Given the description of an element on the screen output the (x, y) to click on. 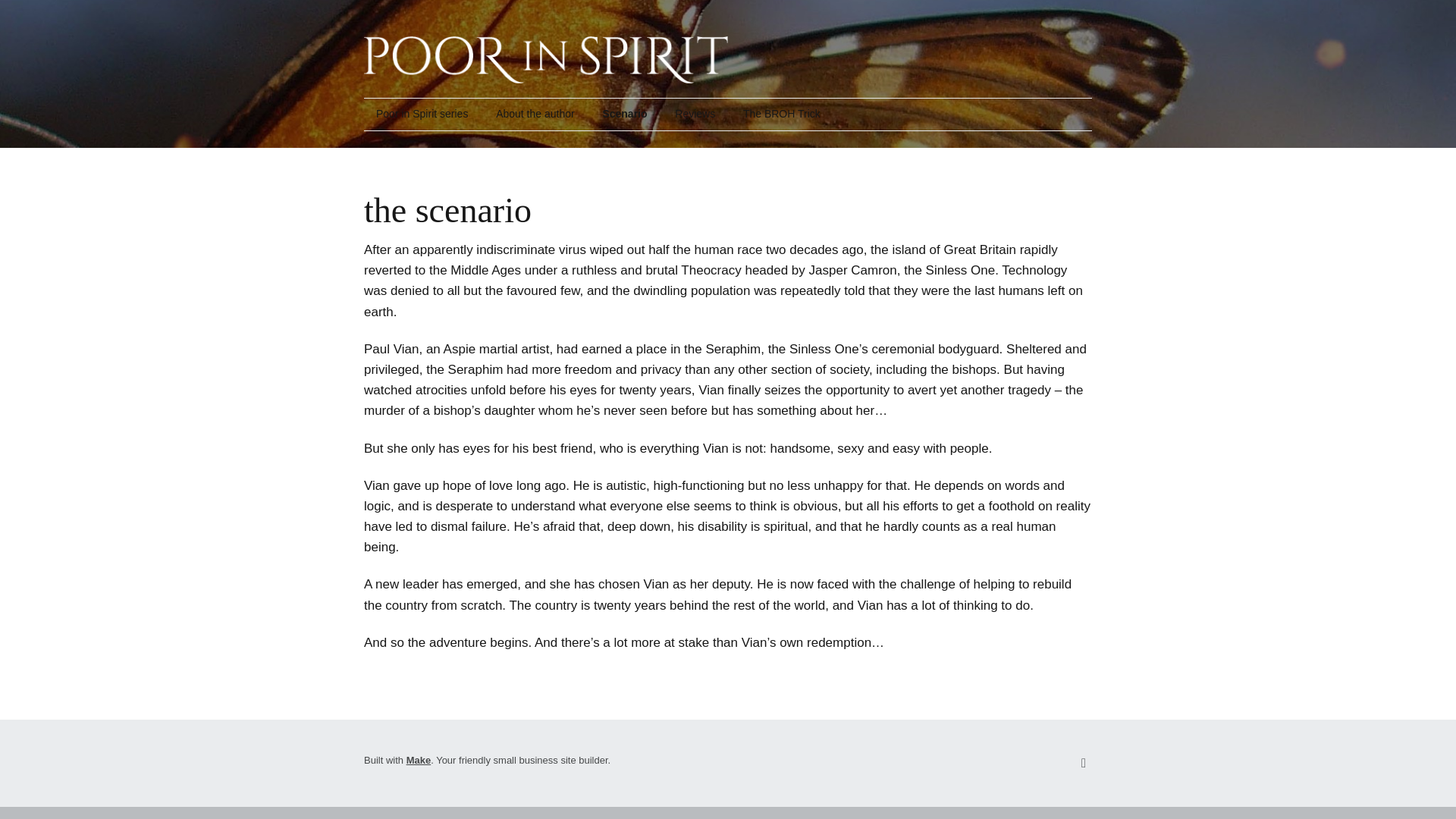
Reviews (694, 114)
The BROH Trick (781, 114)
Scenario (624, 114)
Make (418, 759)
About the author (534, 114)
Poor in Spirit series (422, 114)
